Given the description of an element on the screen output the (x, y) to click on. 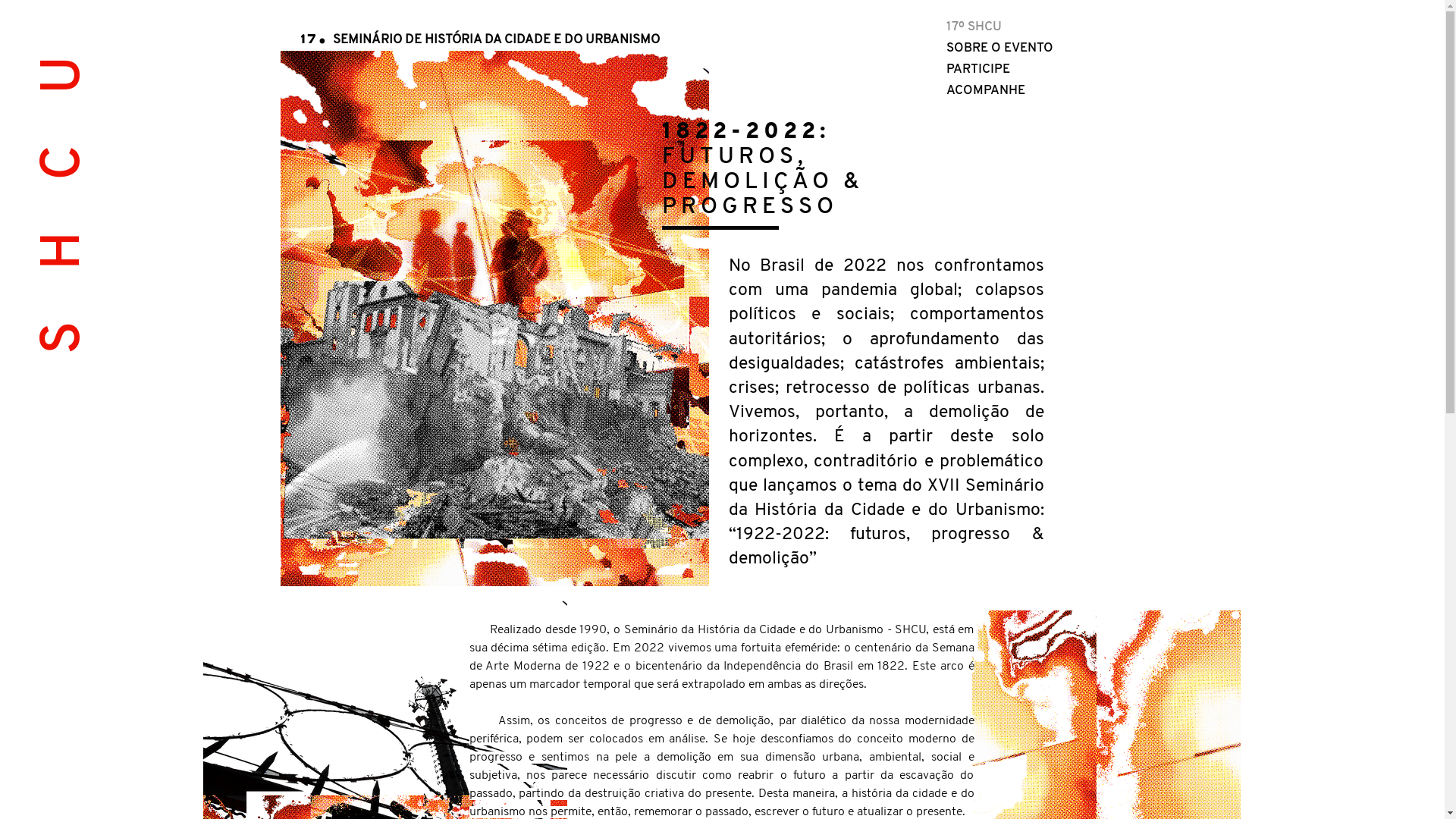
ACOMPANHE Element type: text (1015, 90)
S H C U Element type: text (182, 68)
17 Element type: text (309, 38)
MORRO DO CASTELO Element type: hover (494, 318)
